Given the description of an element on the screen output the (x, y) to click on. 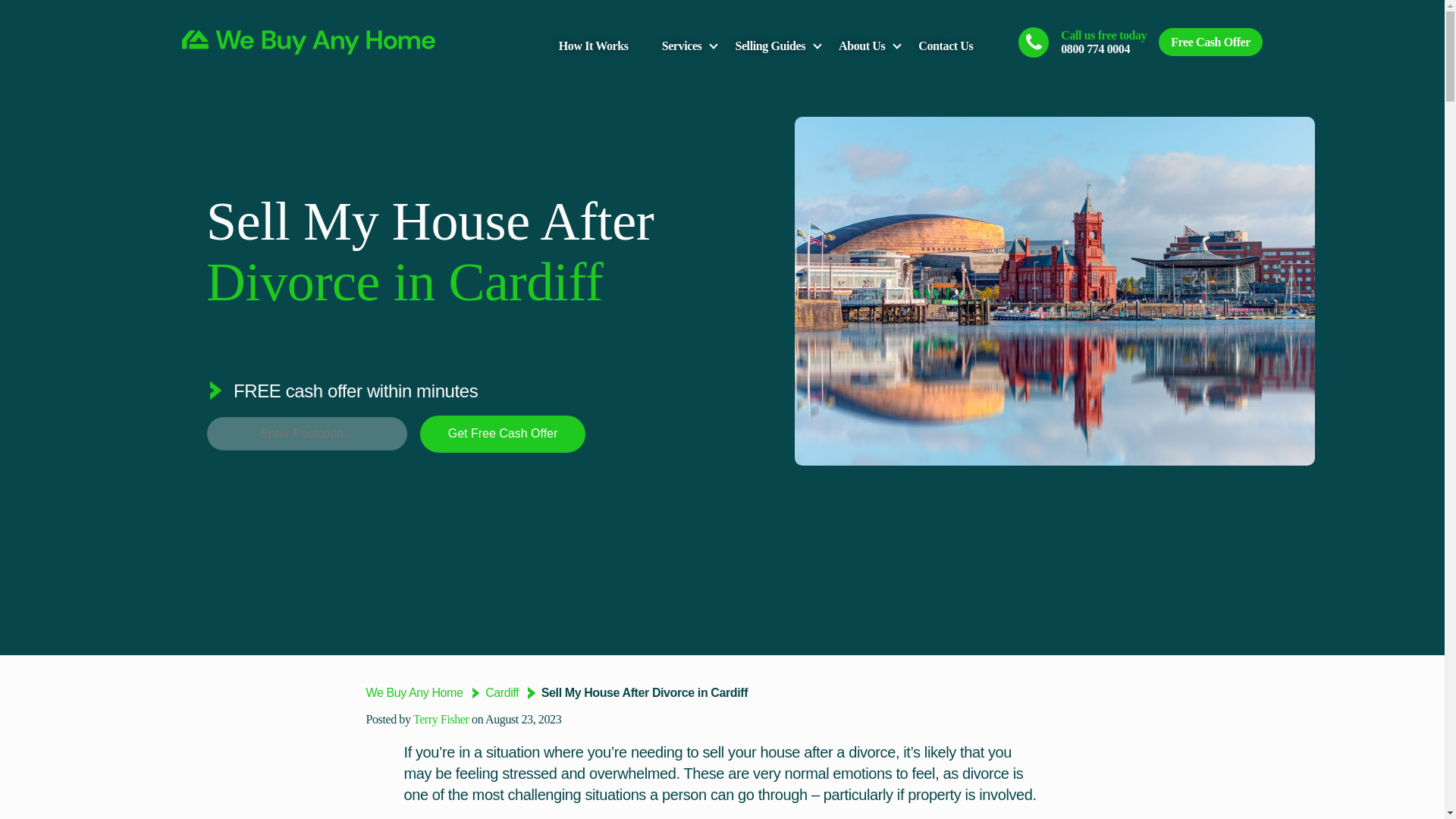
Contact Us (945, 45)
Terry Fisher (440, 718)
0800 774 0004 (1095, 48)
We Buy Any Home (414, 692)
How It Works (593, 45)
Cardiff (502, 692)
Selling Guides (770, 45)
Free Cash Offer (1210, 41)
Services (681, 45)
Get Free Cash Offer (502, 433)
